Given the description of an element on the screen output the (x, y) to click on. 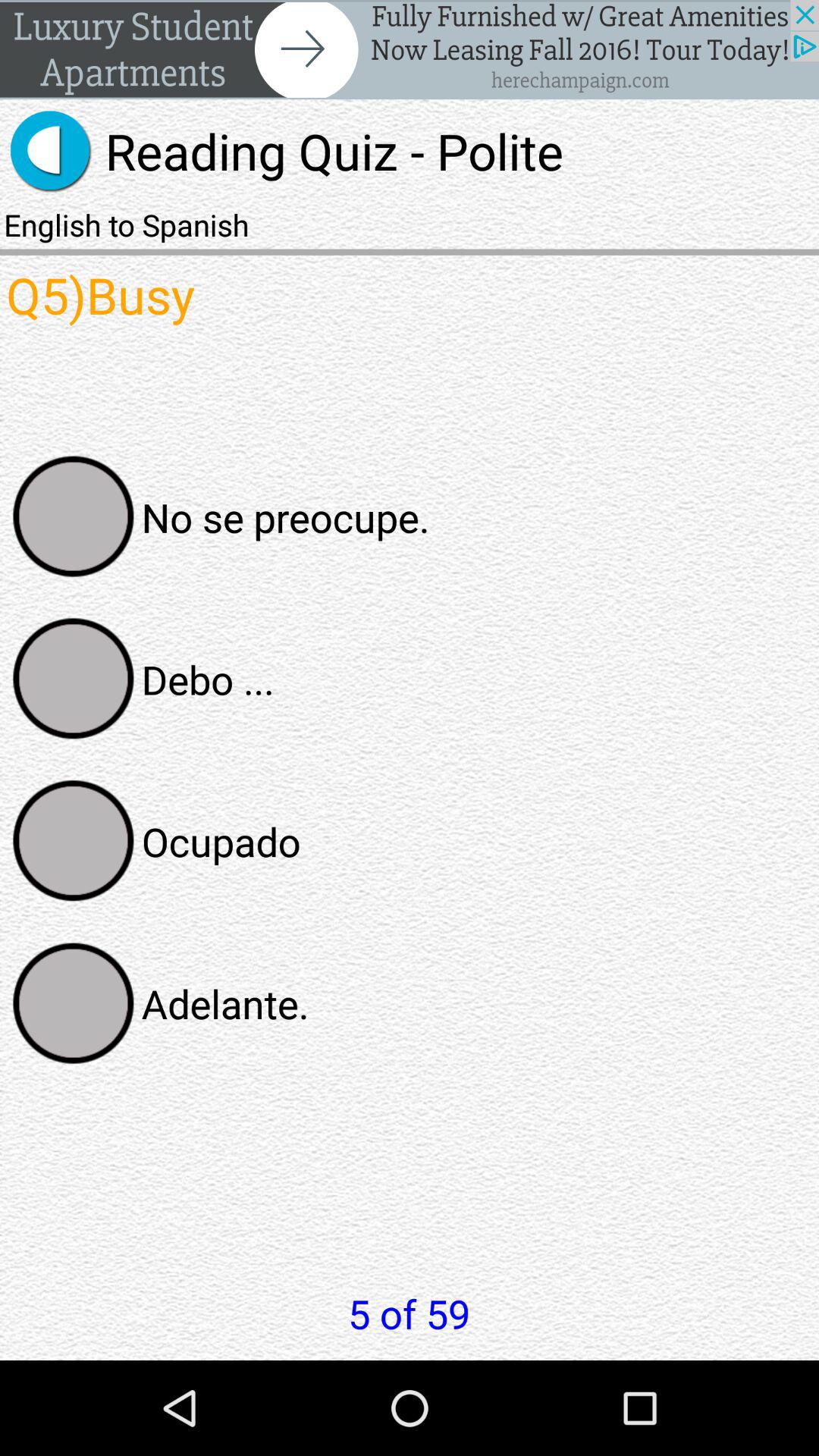
add banner (409, 49)
